Given the description of an element on the screen output the (x, y) to click on. 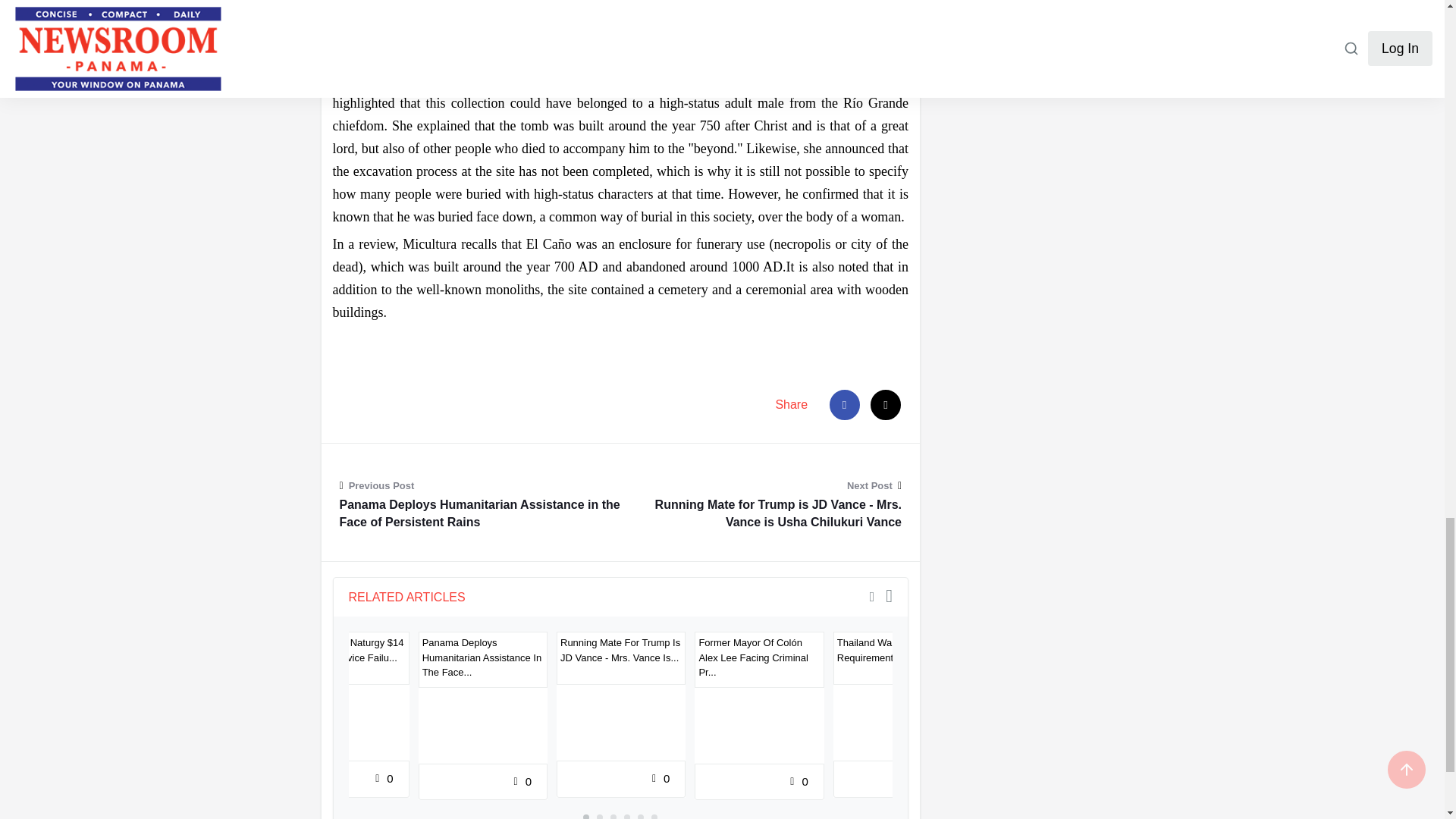
facebook (844, 404)
Mail (885, 404)
